Given the description of an element on the screen output the (x, y) to click on. 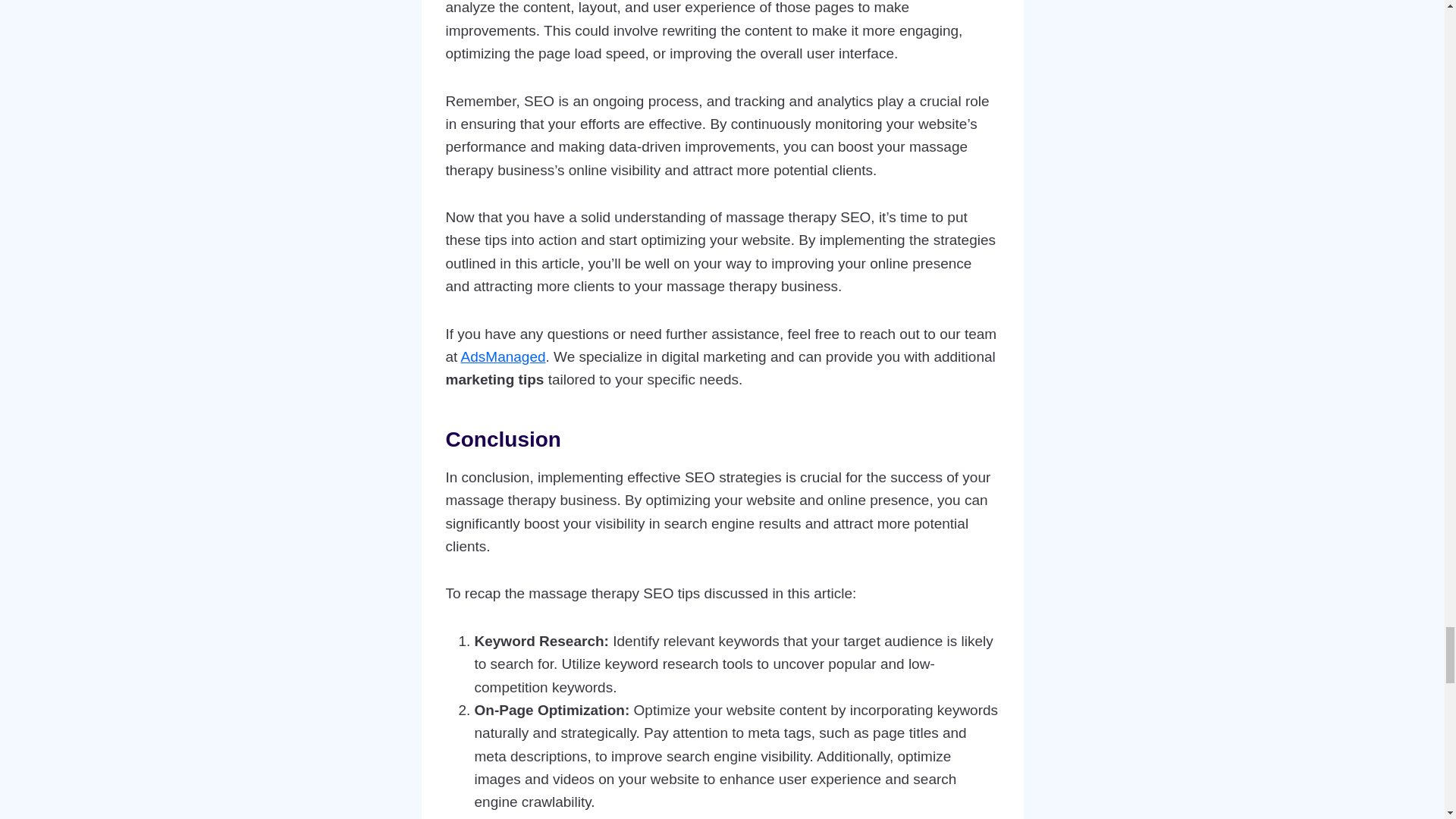
AdsManaged (503, 356)
